Given the description of an element on the screen output the (x, y) to click on. 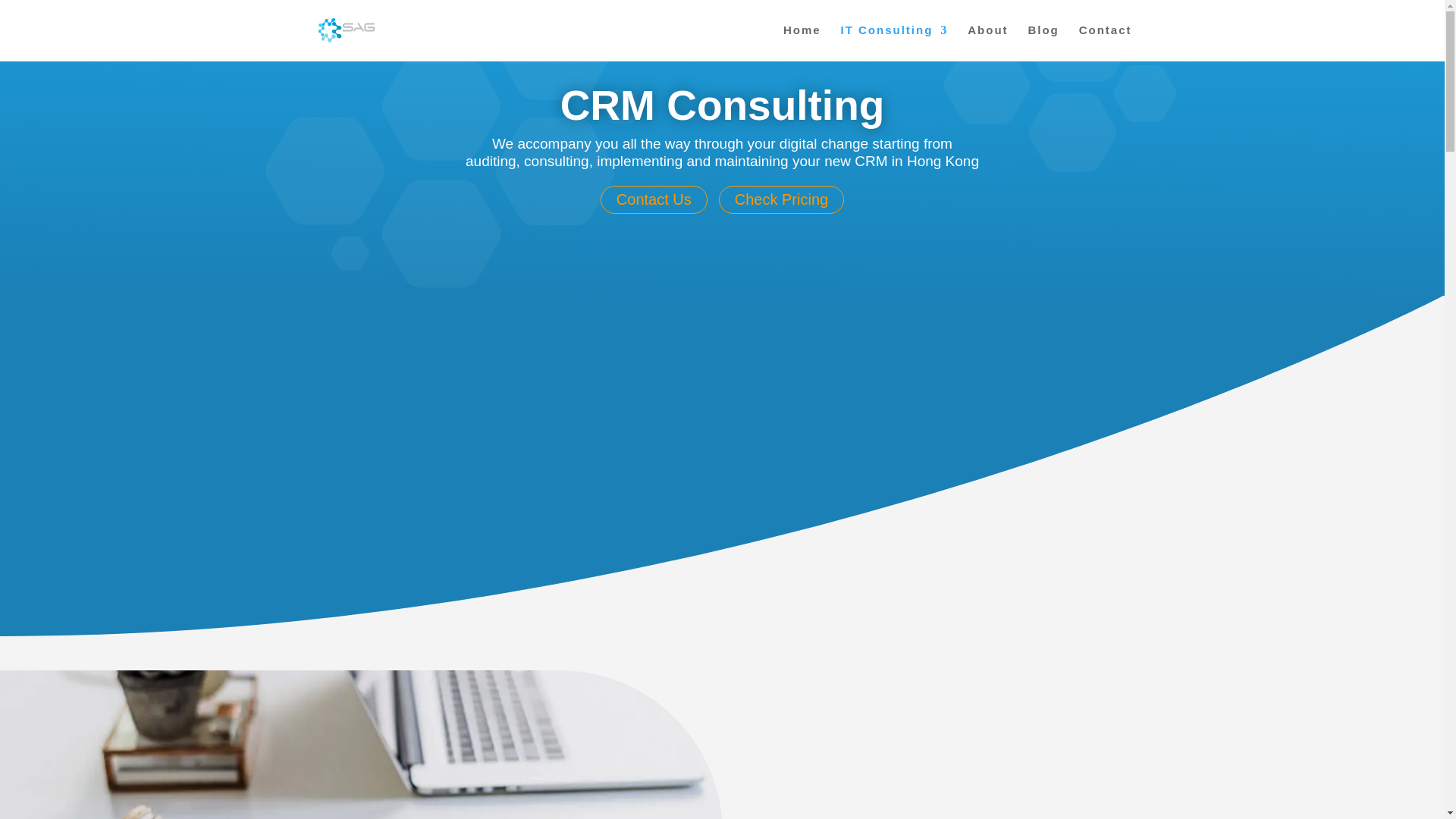
Home (802, 42)
Contact Us (653, 199)
Contact (1105, 42)
Check Pricing (781, 199)
About (987, 42)
IT Consulting (893, 42)
